Given the description of an element on the screen output the (x, y) to click on. 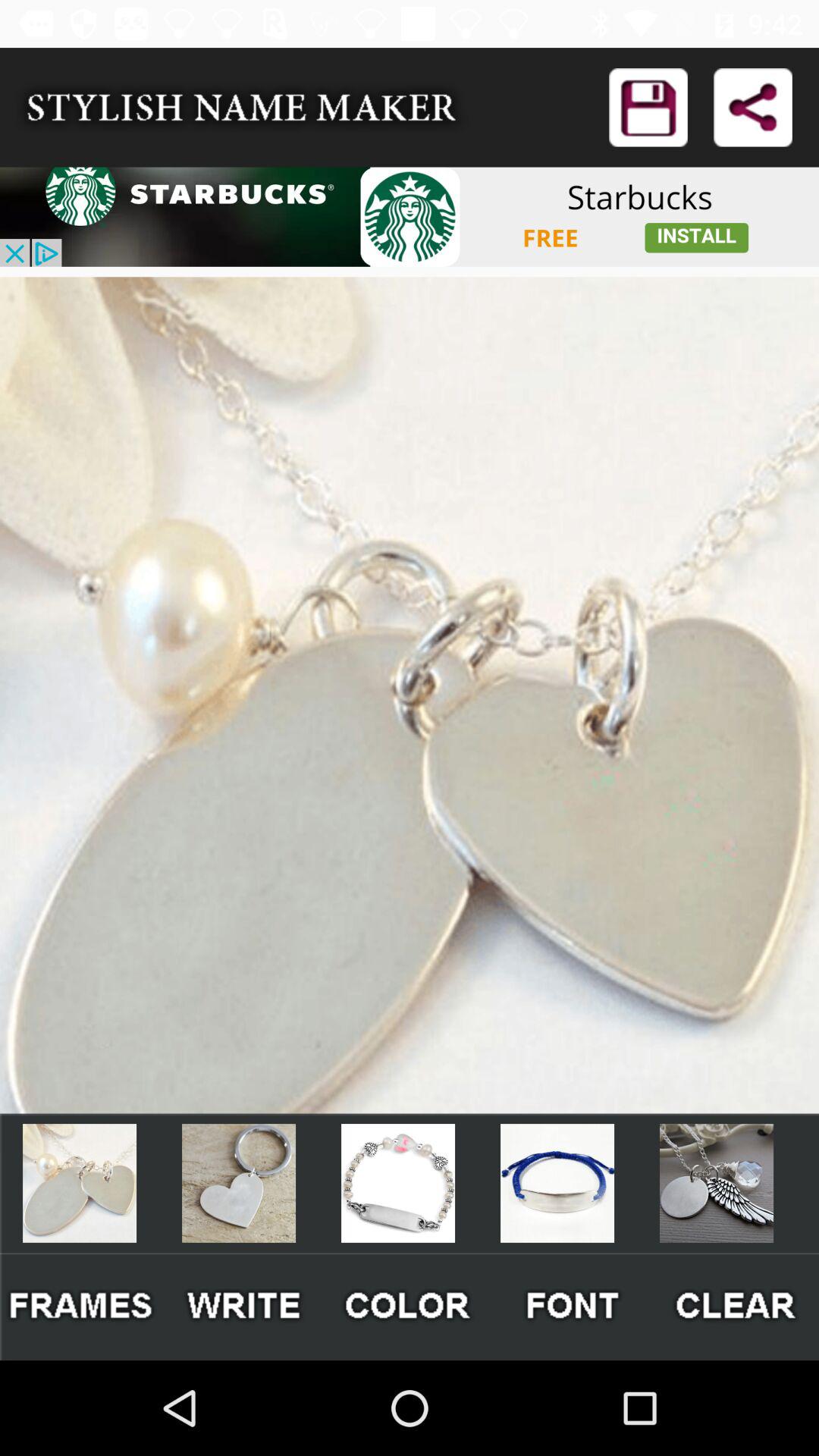
share (752, 107)
